Given the description of an element on the screen output the (x, y) to click on. 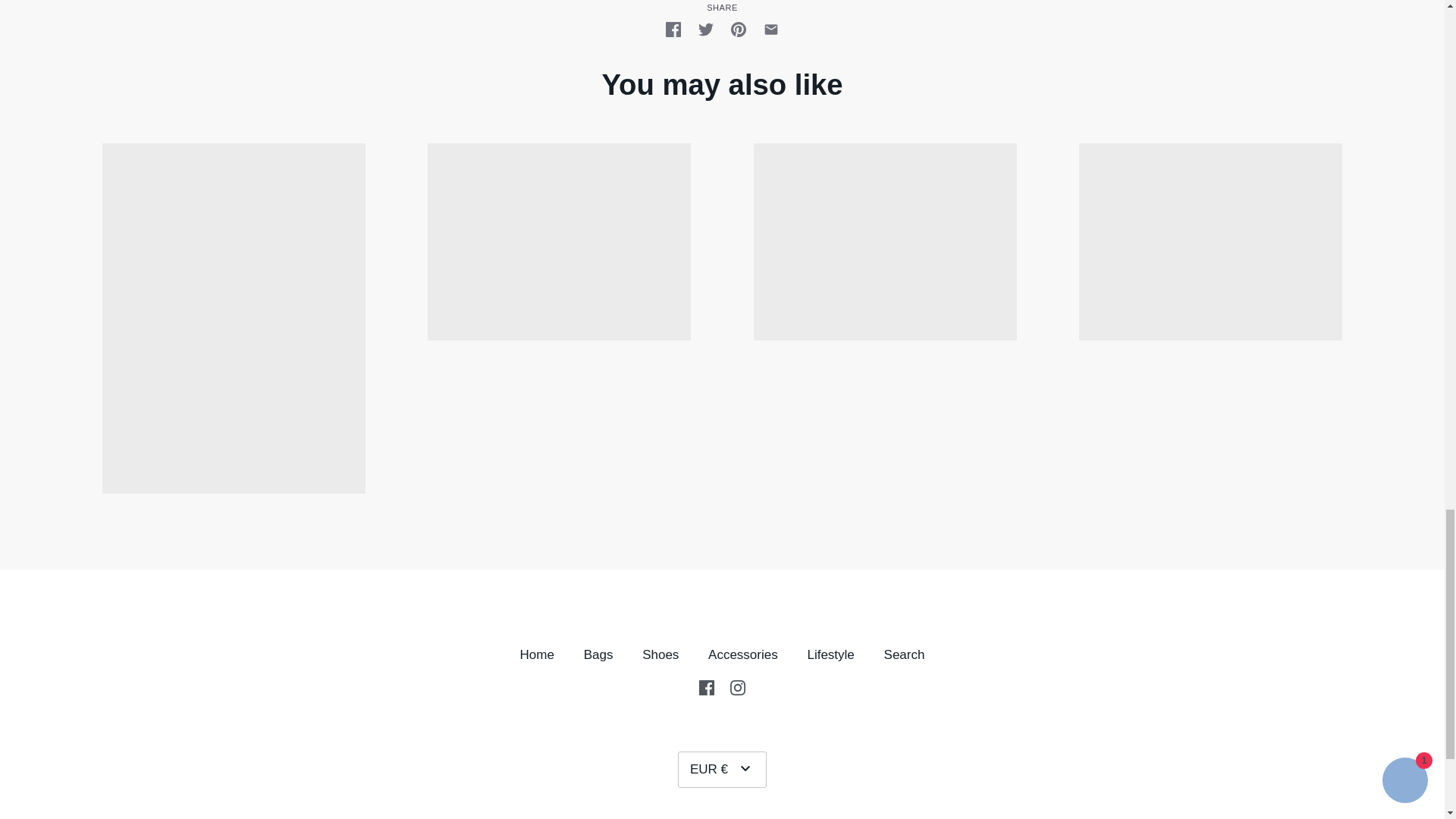
Facebook (706, 686)
Facebook (706, 687)
Facebook (673, 29)
Email (770, 29)
Twitter (705, 29)
Instagram (737, 687)
Pinterest (737, 29)
Instagram (737, 686)
